Given the description of an element on the screen output the (x, y) to click on. 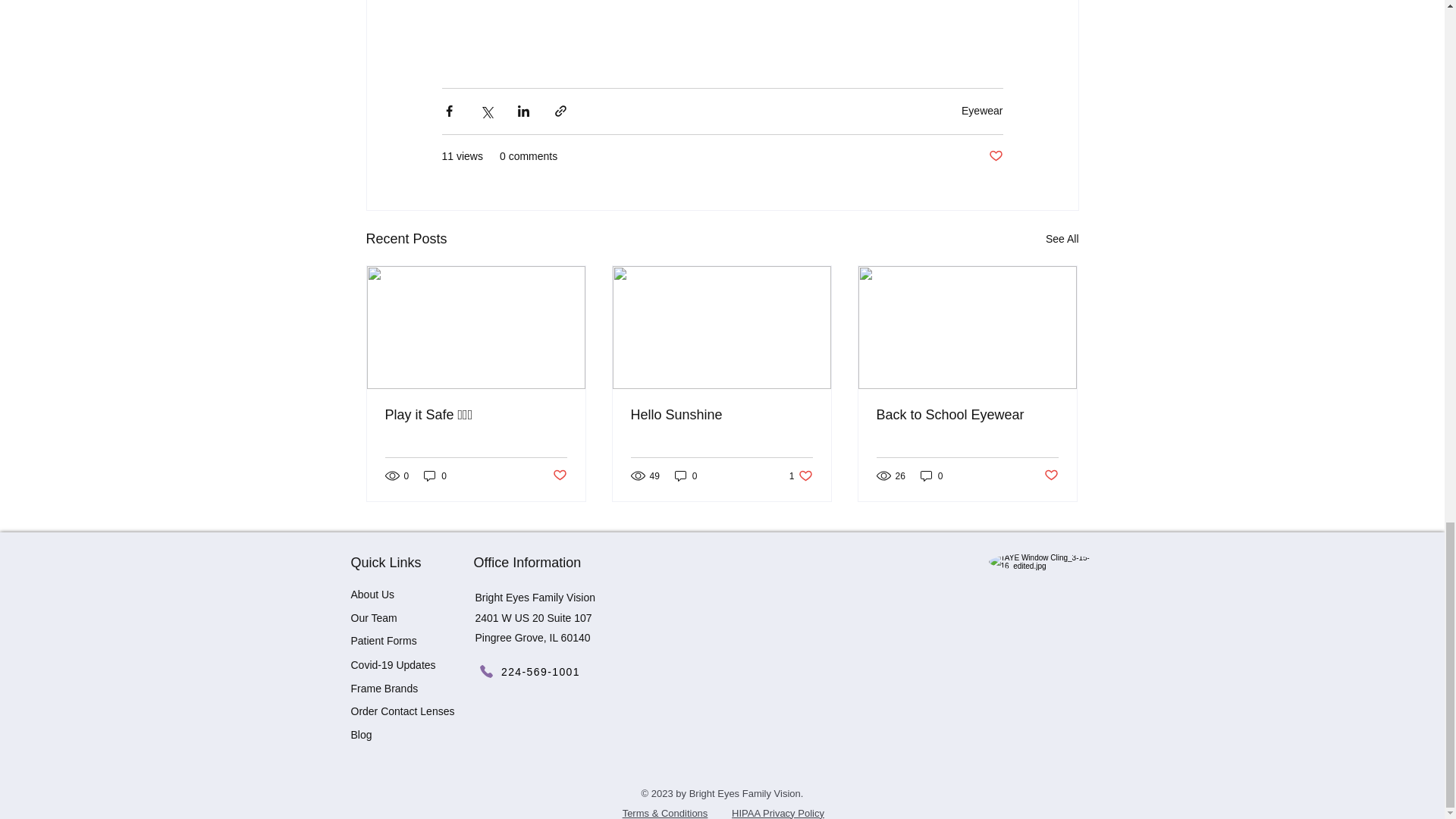
Hello Sunshine (721, 415)
0 (435, 475)
Eyewear (981, 110)
Post not marked as liked (995, 156)
See All (1061, 239)
Post not marked as liked (558, 475)
